Given the description of an element on the screen output the (x, y) to click on. 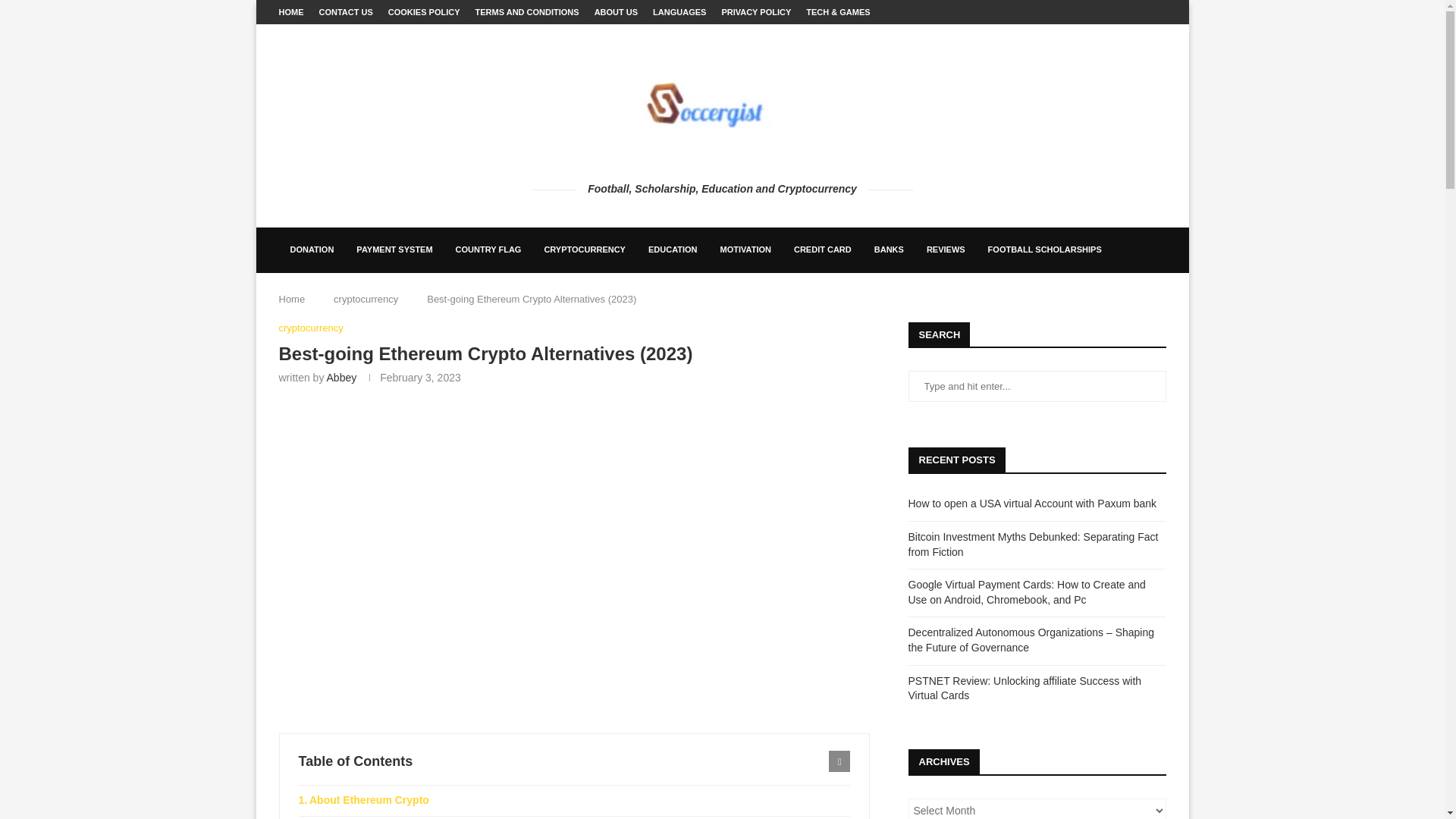
LANGUAGES (679, 12)
About Ethereum Crypto (574, 800)
REVIEWS (945, 249)
cryptocurrency (311, 328)
PAYMENT SYSTEM (394, 249)
EDUCATION (673, 249)
Home (292, 298)
bitcoin-crisis-2022 (573, 558)
CRYPTOCURRENCY (584, 249)
Abbey (341, 377)
